Given the description of an element on the screen output the (x, y) to click on. 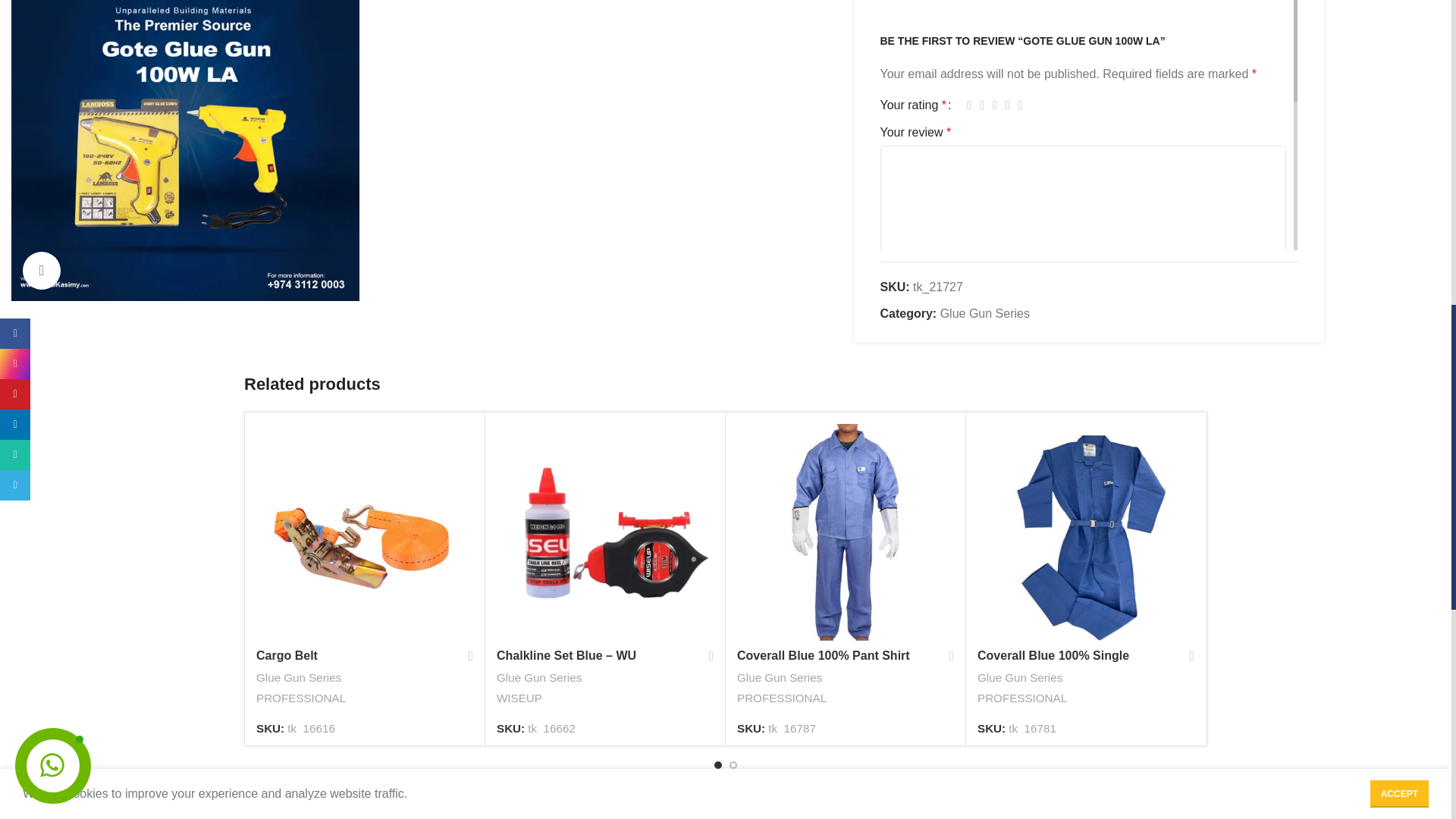
retail-free-shipping.svg (355, 814)
retail-247.svg (602, 814)
yes (884, 444)
retail-payment.svg (848, 814)
Submit (913, 505)
Gote-Glue-Gun-100W-LA-1 (185, 151)
retail-delivery-man.svg (1096, 814)
